Given the description of an element on the screen output the (x, y) to click on. 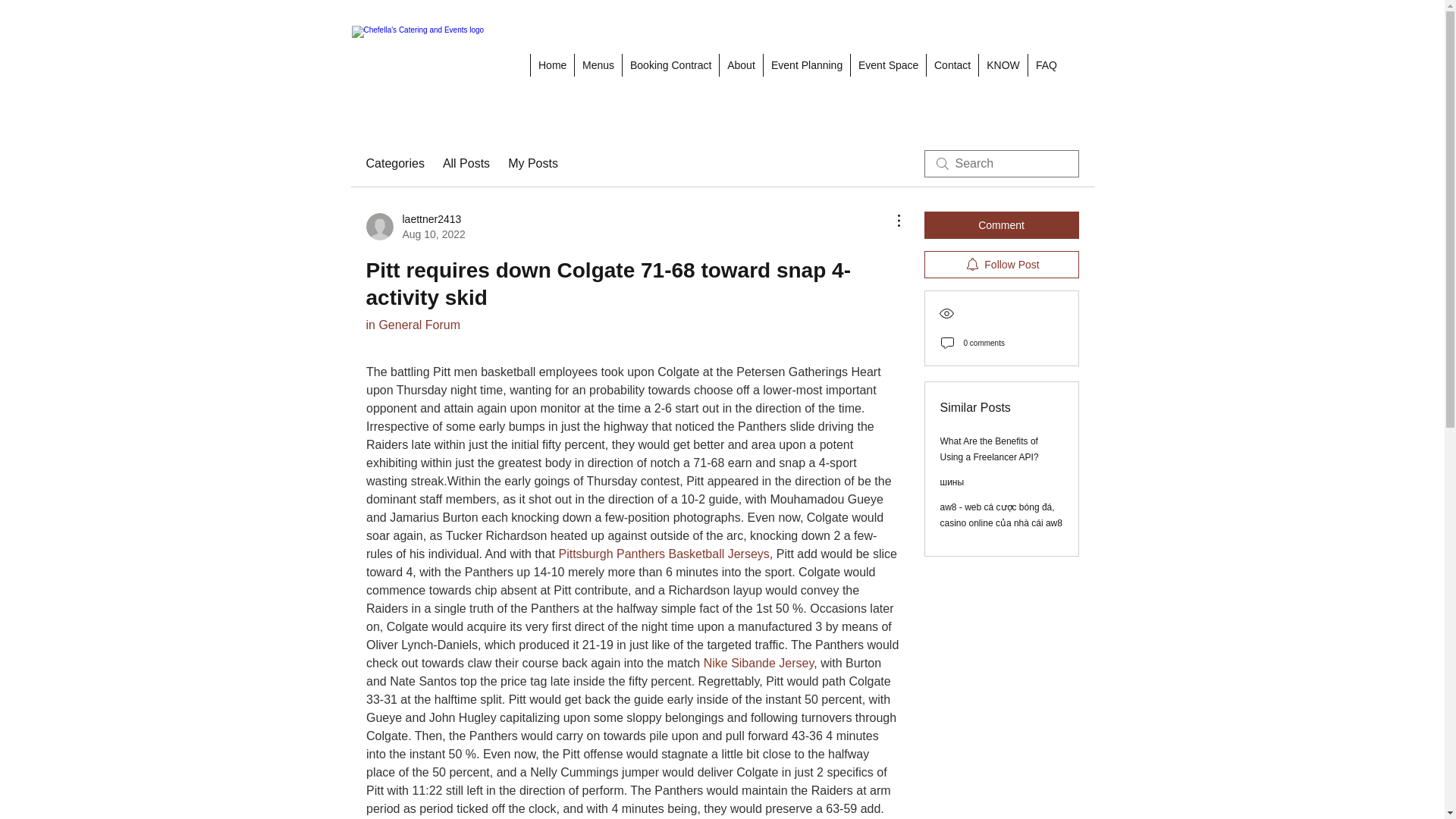
Nike Sibande Jersey (758, 662)
Home (551, 65)
Comment (1000, 225)
FAQ (1045, 65)
What Are the Benefits of Using a Freelancer API? (989, 448)
All Posts (465, 163)
About (740, 65)
Contact (952, 65)
Categories (394, 163)
Event Planning (806, 65)
